Given the description of an element on the screen output the (x, y) to click on. 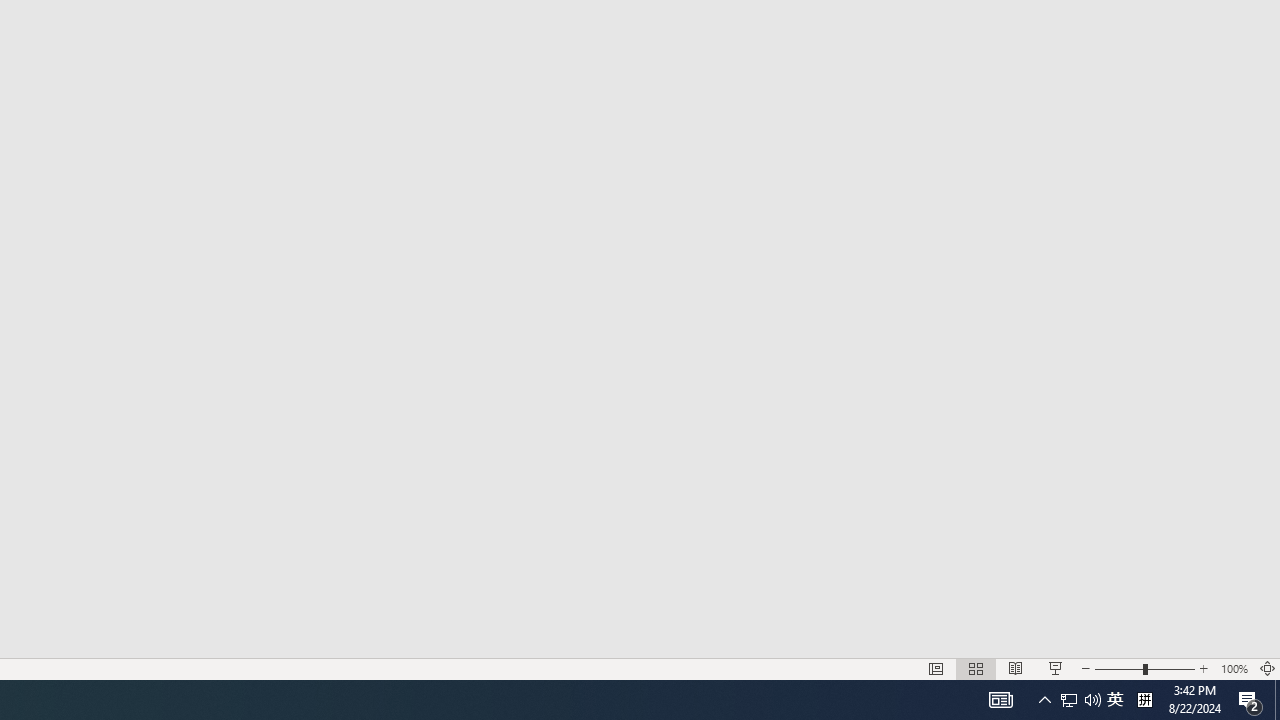
Zoom 100% (1234, 668)
